Given the description of an element on the screen output the (x, y) to click on. 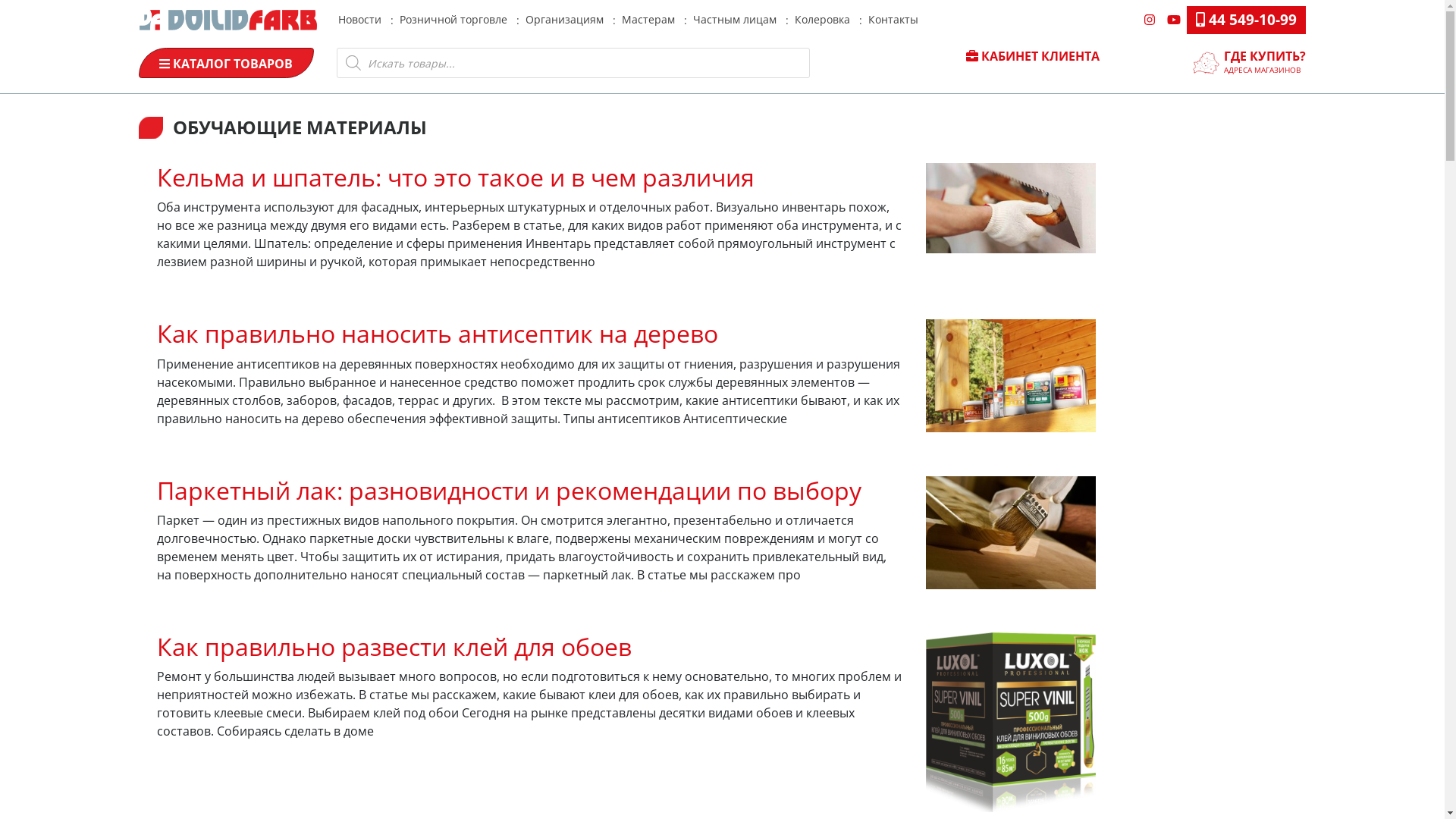
44 549-10-99 Element type: text (1245, 19)
